Given the description of an element on the screen output the (x, y) to click on. 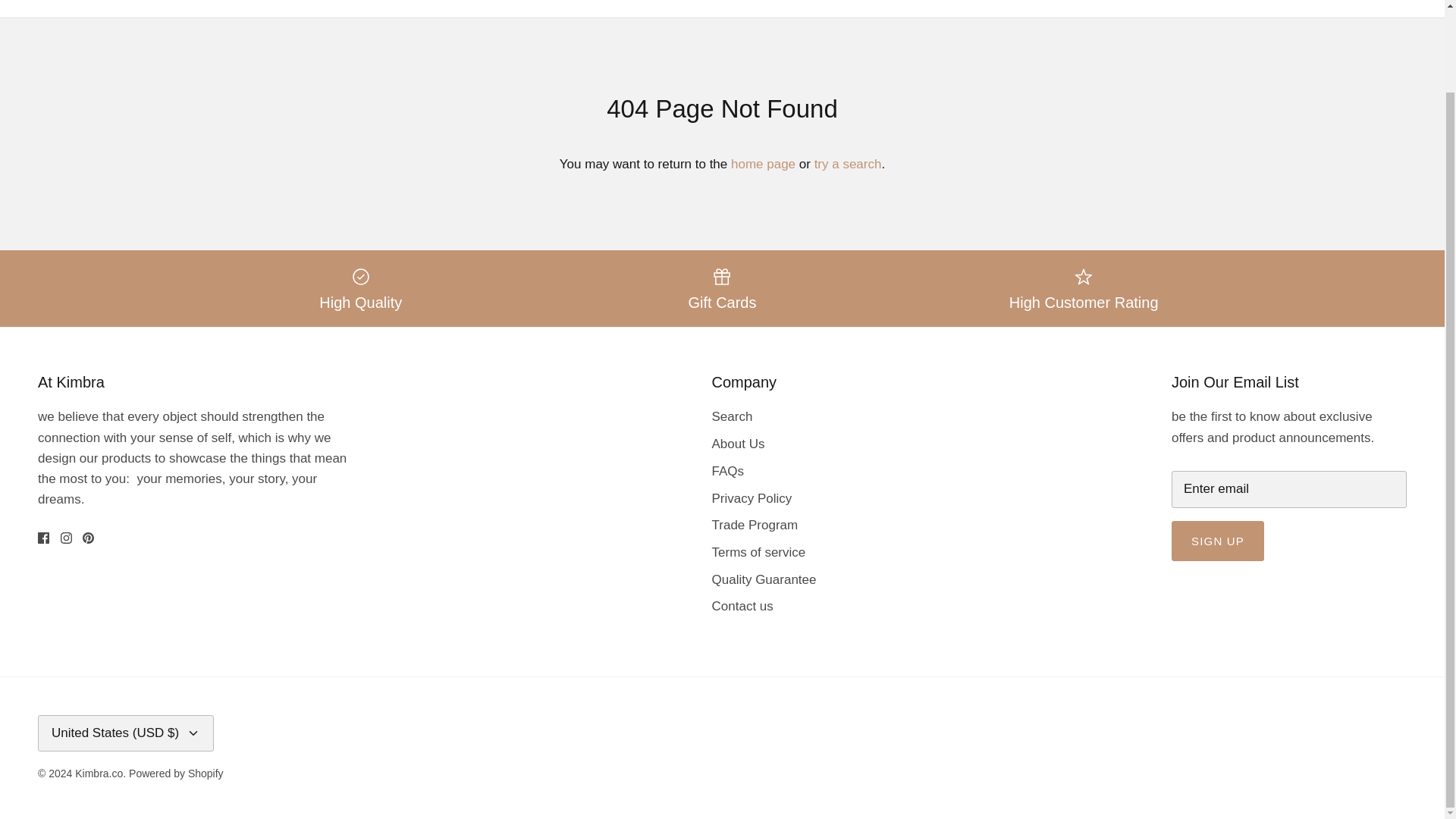
Kimbra.co (721, 1)
Pinterest (88, 537)
STATEMENT COLLECTION (306, 2)
Down (193, 733)
Facebook (43, 537)
HOME (47, 2)
Instagram (66, 537)
SHOP BY PRODUCT (148, 2)
